Given the description of an element on the screen output the (x, y) to click on. 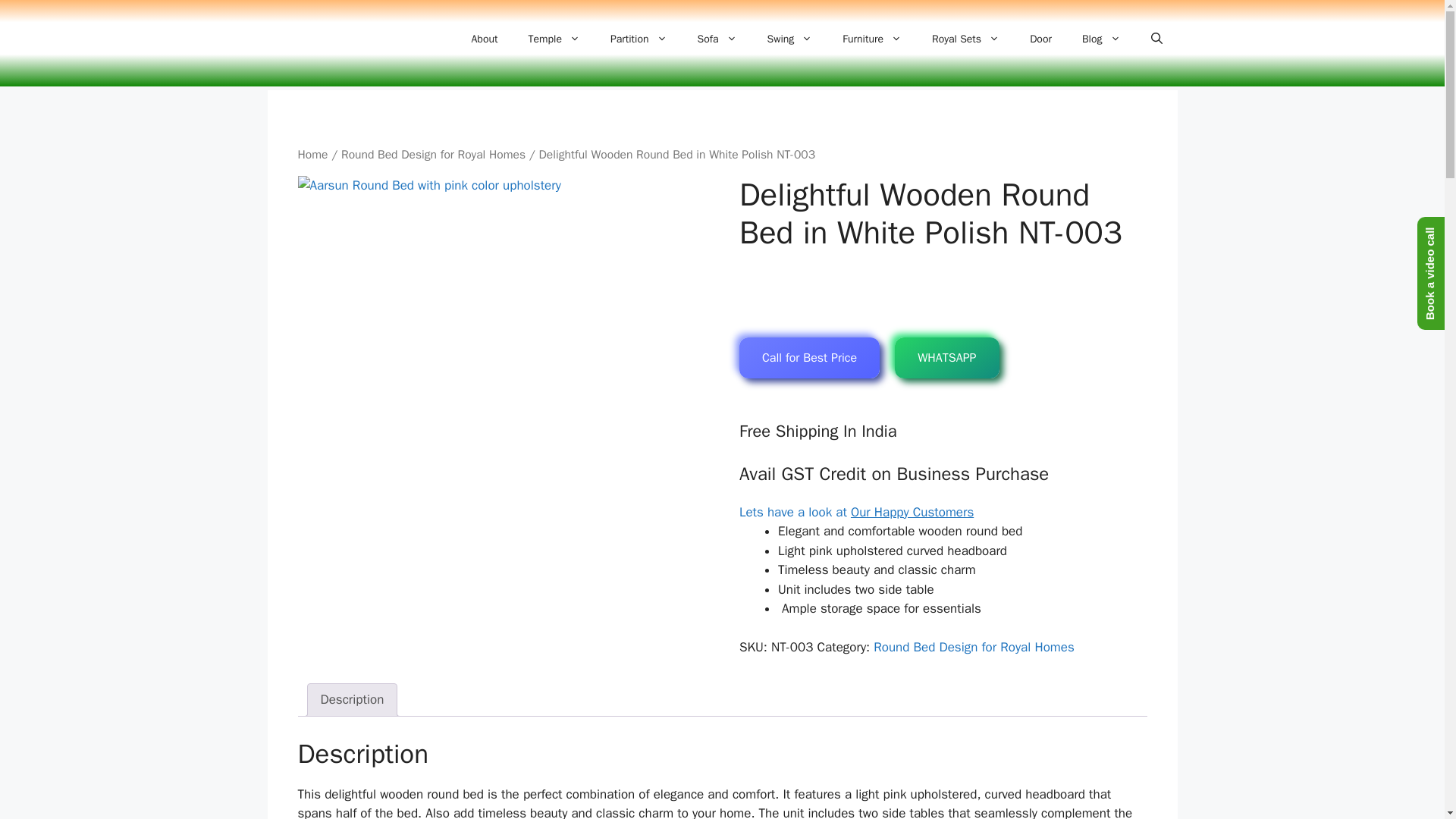
Swing (790, 38)
Temple (553, 38)
Furniture (872, 38)
Partition (638, 38)
Sofa (717, 38)
About (485, 38)
